Given the description of an element on the screen output the (x, y) to click on. 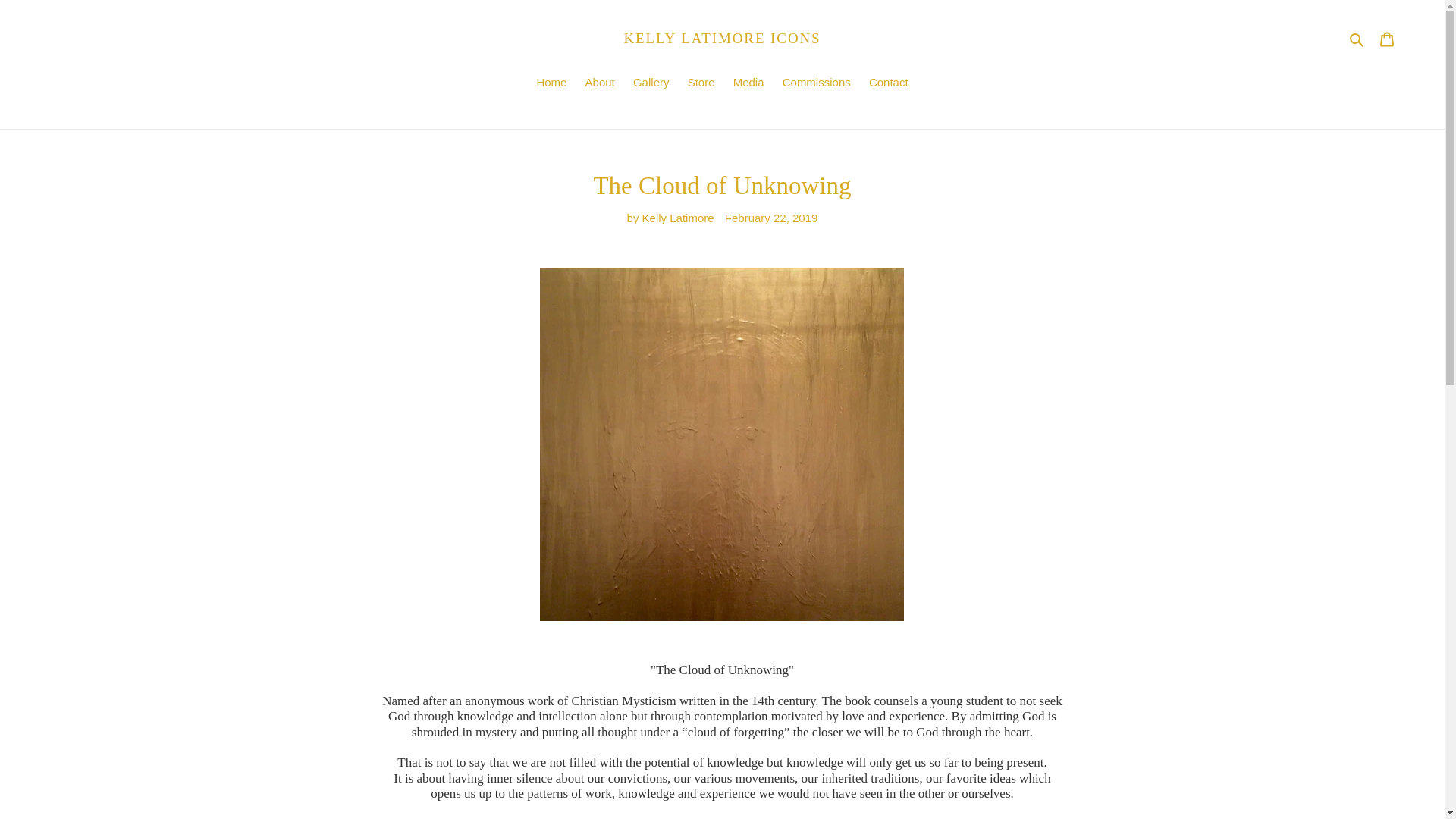
About (600, 84)
Cart (1387, 38)
Home (550, 84)
Search (1357, 38)
Contact (888, 84)
Gallery (651, 84)
Commissions (816, 84)
Store (700, 84)
Media (748, 84)
KELLY LATIMORE ICONS (722, 38)
